Given the description of an element on the screen output the (x, y) to click on. 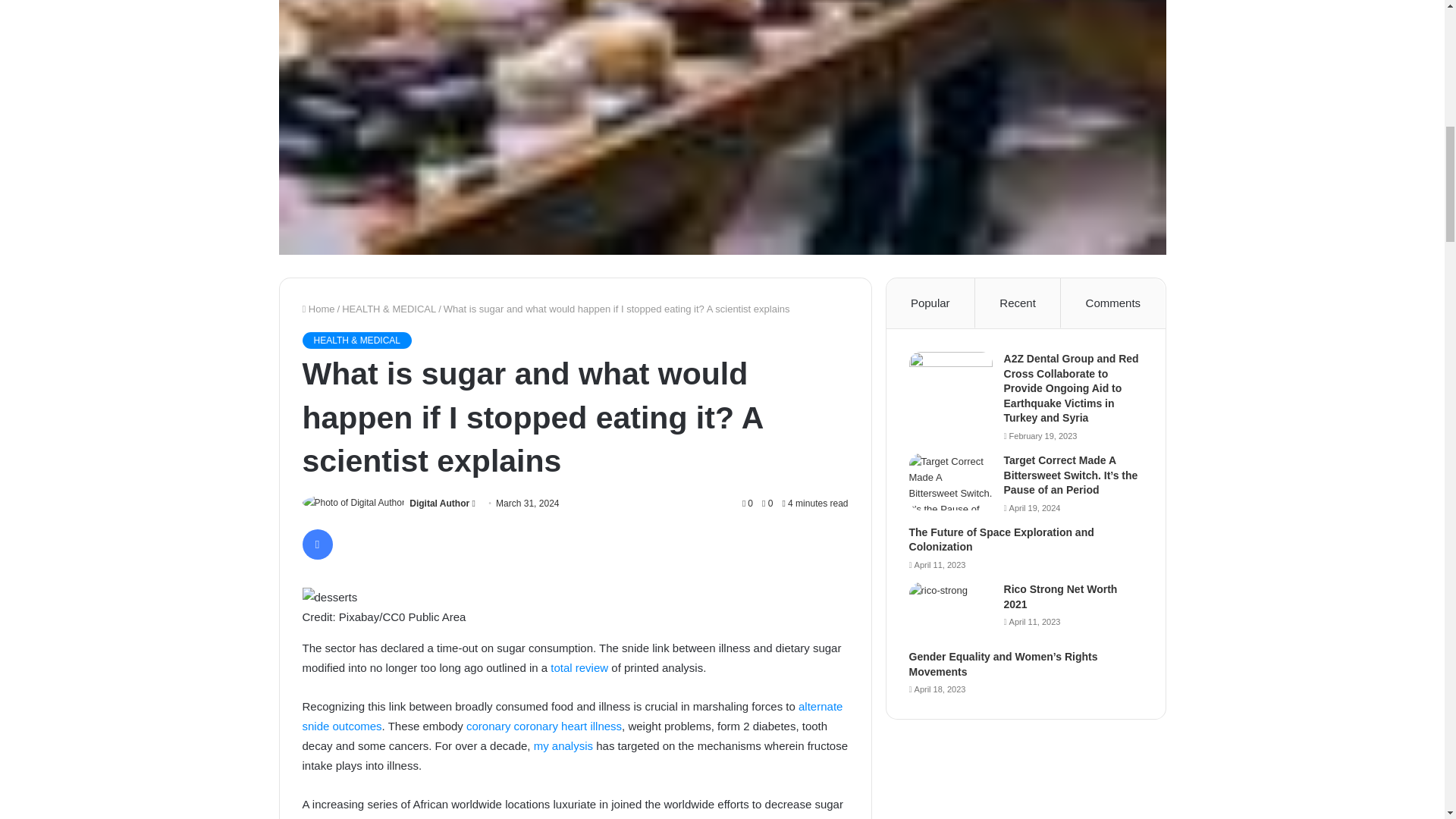
Digital Author (438, 502)
coronary coronary heart illness (543, 725)
Facebook (316, 544)
my analysis (563, 745)
total review (579, 667)
Home (317, 308)
alternate snide outcomes (572, 716)
Digital Author (438, 502)
Facebook (316, 544)
